Given the description of an element on the screen output the (x, y) to click on. 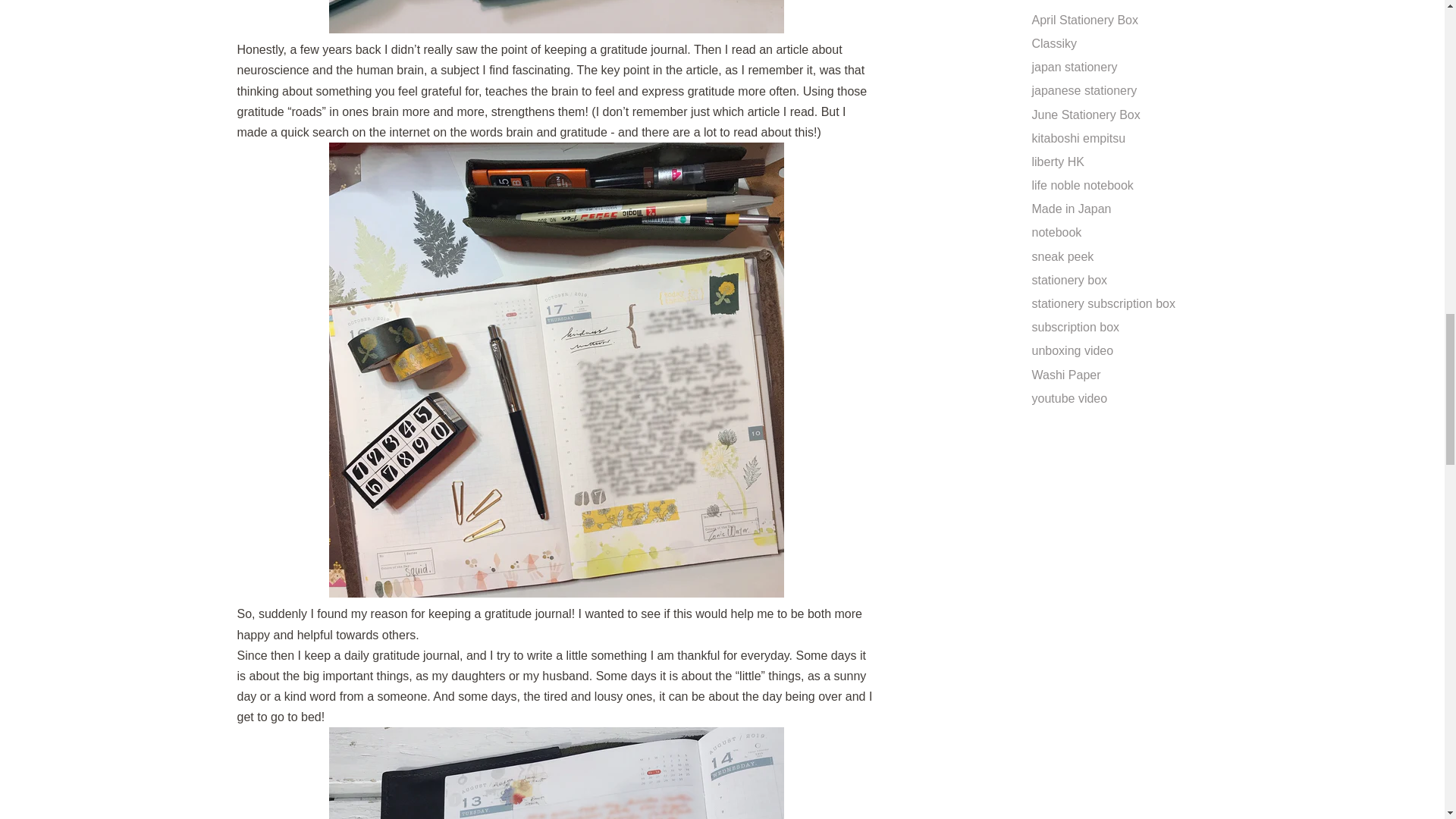
Show articles tagged Washi Paper (1065, 374)
Show articles tagged stationery box (1068, 279)
Show articles tagged youtube video (1068, 398)
Show articles tagged japanese stationery (1083, 90)
Show articles tagged liberty HK (1056, 161)
Show articles tagged notebook (1055, 232)
Show articles tagged subscription box (1074, 327)
Show articles tagged Made in Japan (1070, 208)
Show articles tagged unboxing video (1071, 350)
Show articles tagged sneak peek (1061, 256)
